Given the description of an element on the screen output the (x, y) to click on. 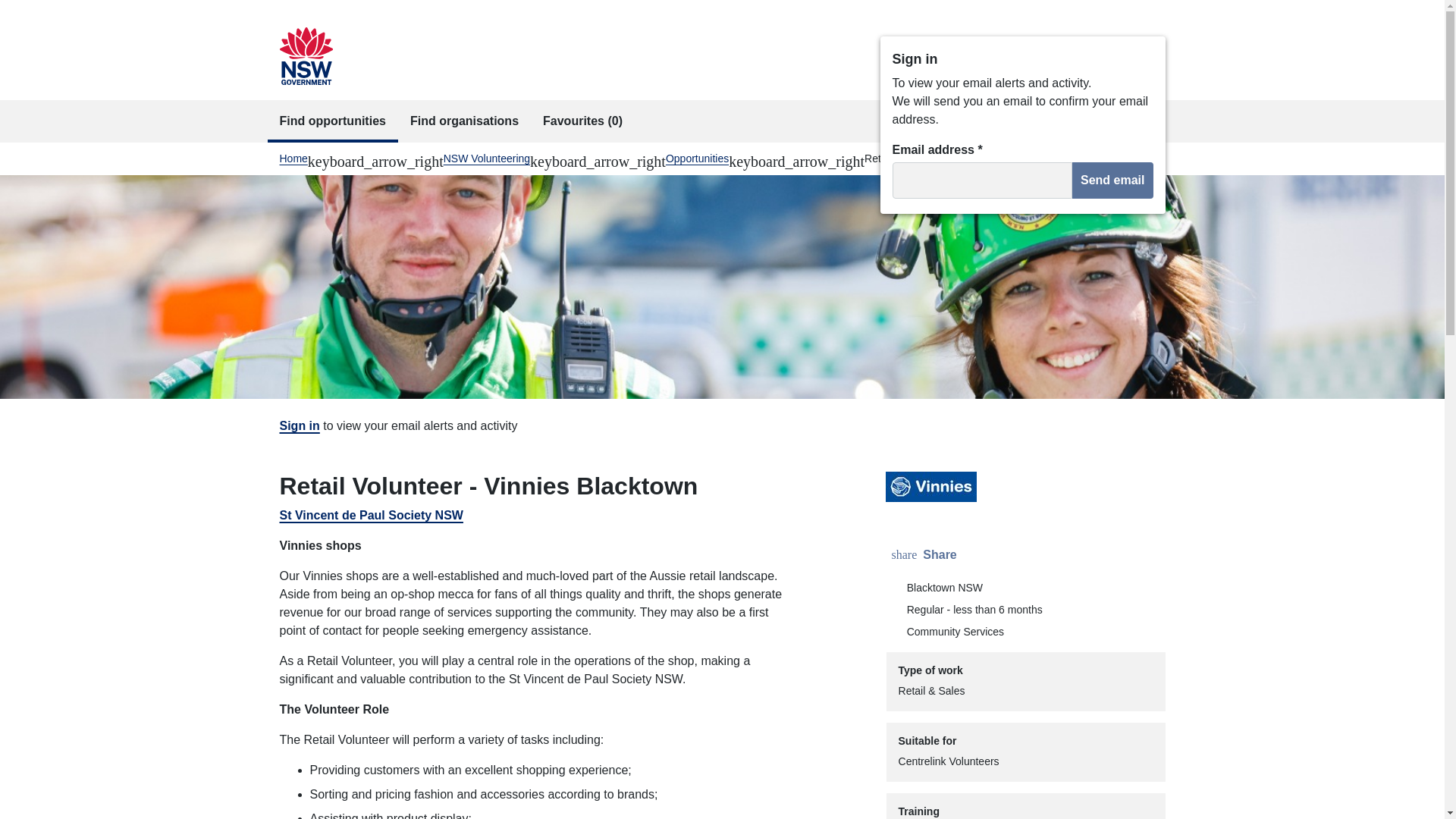
St Vincent de Paul Society NSW (371, 514)
Opportunities (697, 158)
NSW Volunteering (486, 158)
Home (925, 555)
Sign in (293, 158)
Send email (298, 425)
Find organisations (1112, 180)
Find opportunities (464, 120)
NSW Government (331, 120)
